Given the description of an element on the screen output the (x, y) to click on. 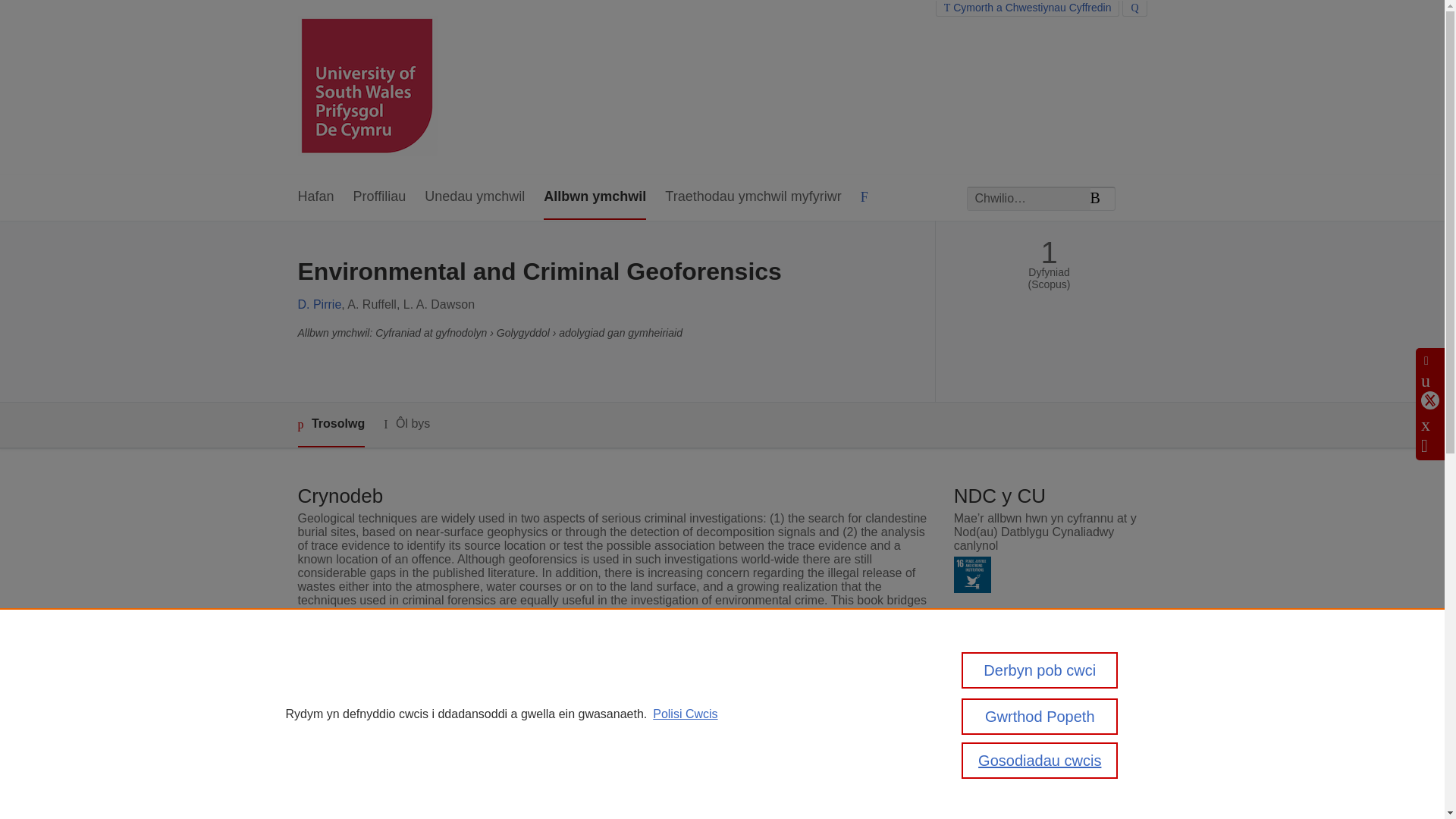
D. Pirrie (318, 304)
NDC 16 - Heddwch, Cyfiawnder a Sefydliadau Cadarn (972, 574)
Cymorth a Chwestiynau Cyffredin (1027, 7)
Trosolwg (331, 424)
Prifysgol de Cymru Hafan (366, 87)
Unedau ymchwil (474, 197)
Geological Society Engineering Geology Special Publication (664, 710)
Allbwn ymchwil (594, 197)
CC BY-NC-ND (1048, 654)
Proffiliau (379, 197)
Traethodau ymchwil myfyriwr (753, 197)
